Given the description of an element on the screen output the (x, y) to click on. 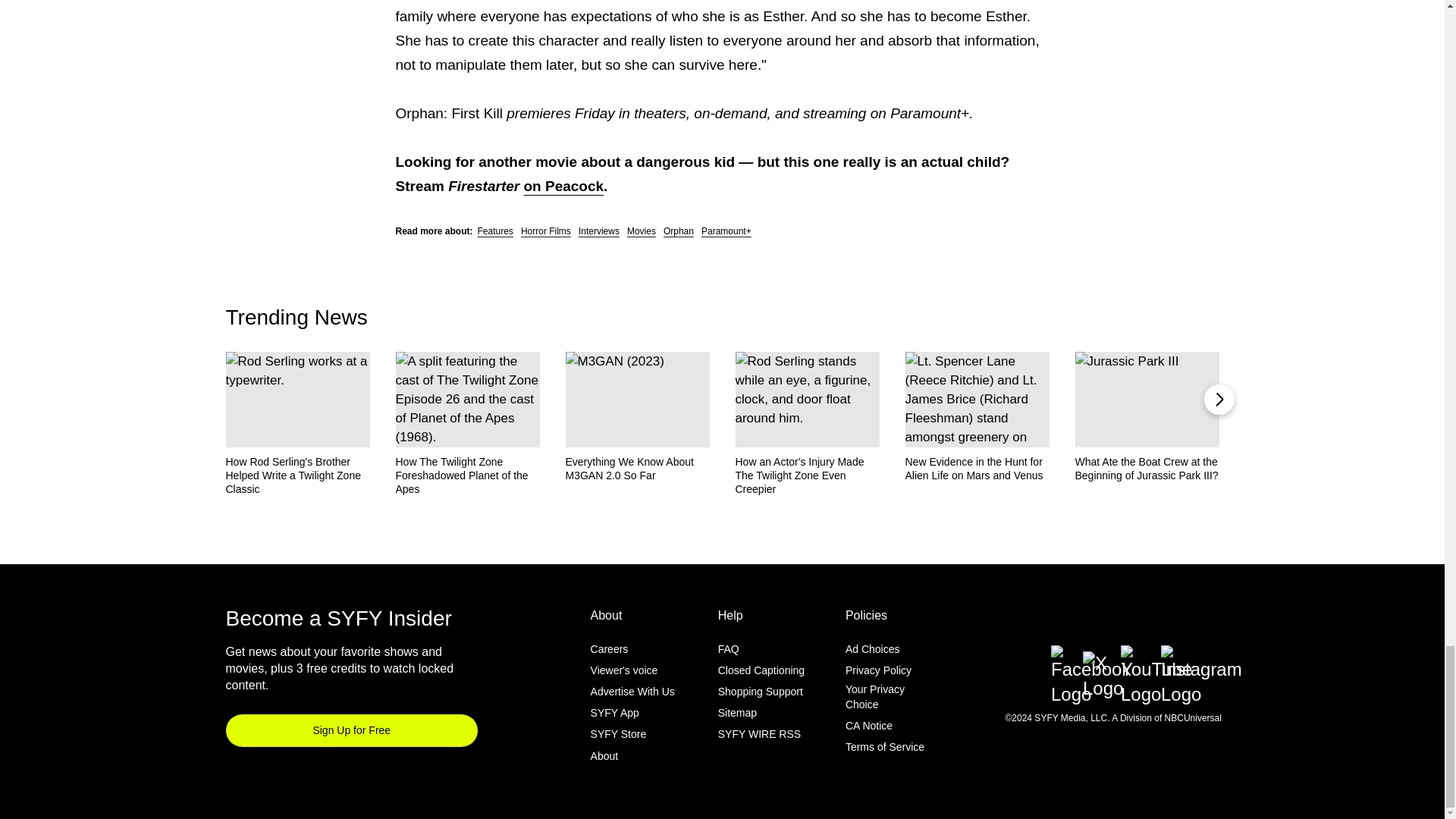
Features (495, 231)
on Peacock (563, 185)
Movies (641, 231)
Orphan (678, 231)
Interviews (599, 231)
Advertise With Us (633, 691)
Horror Films (545, 231)
